Given the description of an element on the screen output the (x, y) to click on. 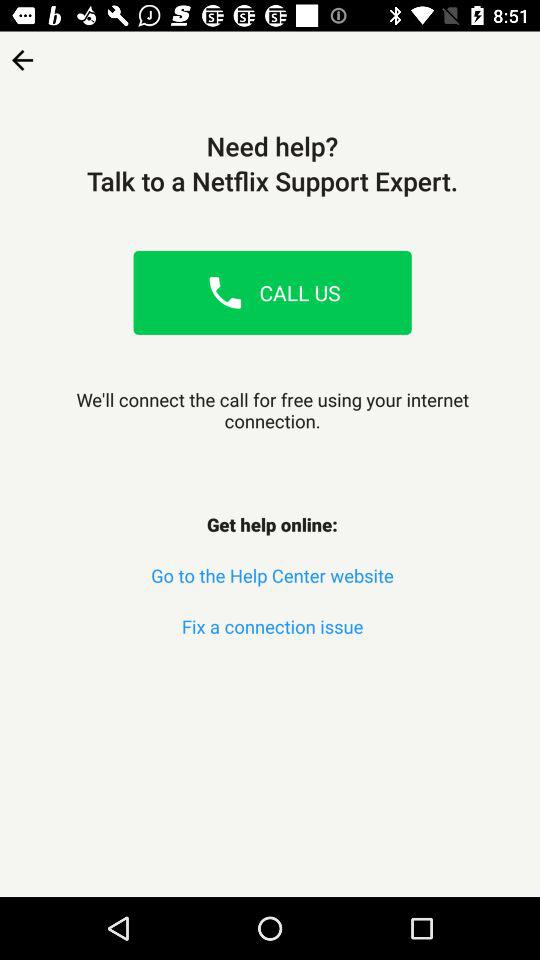
launch item at the top left corner (22, 53)
